Given the description of an element on the screen output the (x, y) to click on. 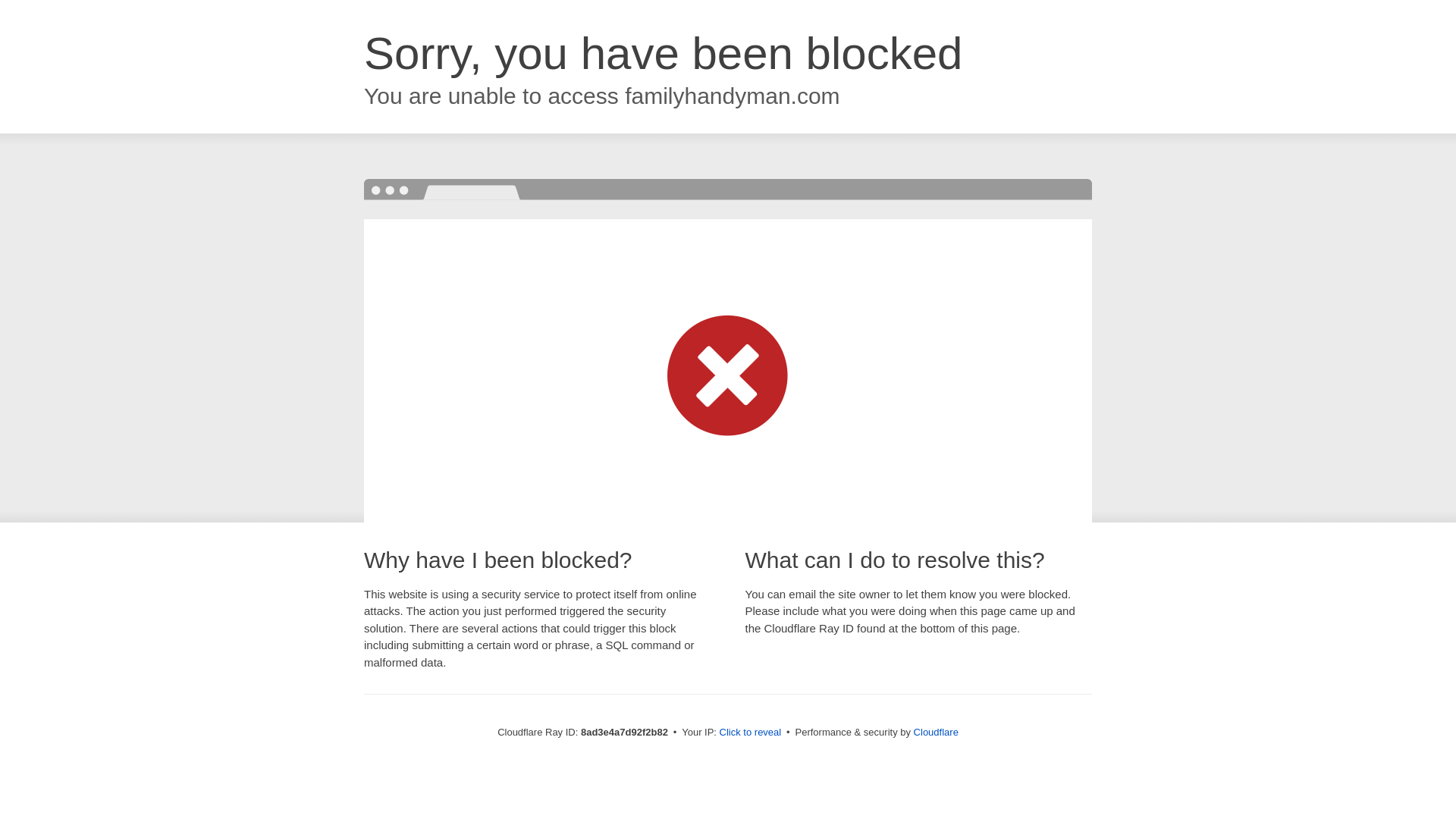
Click to reveal (750, 732)
Cloudflare (936, 731)
